Given the description of an element on the screen output the (x, y) to click on. 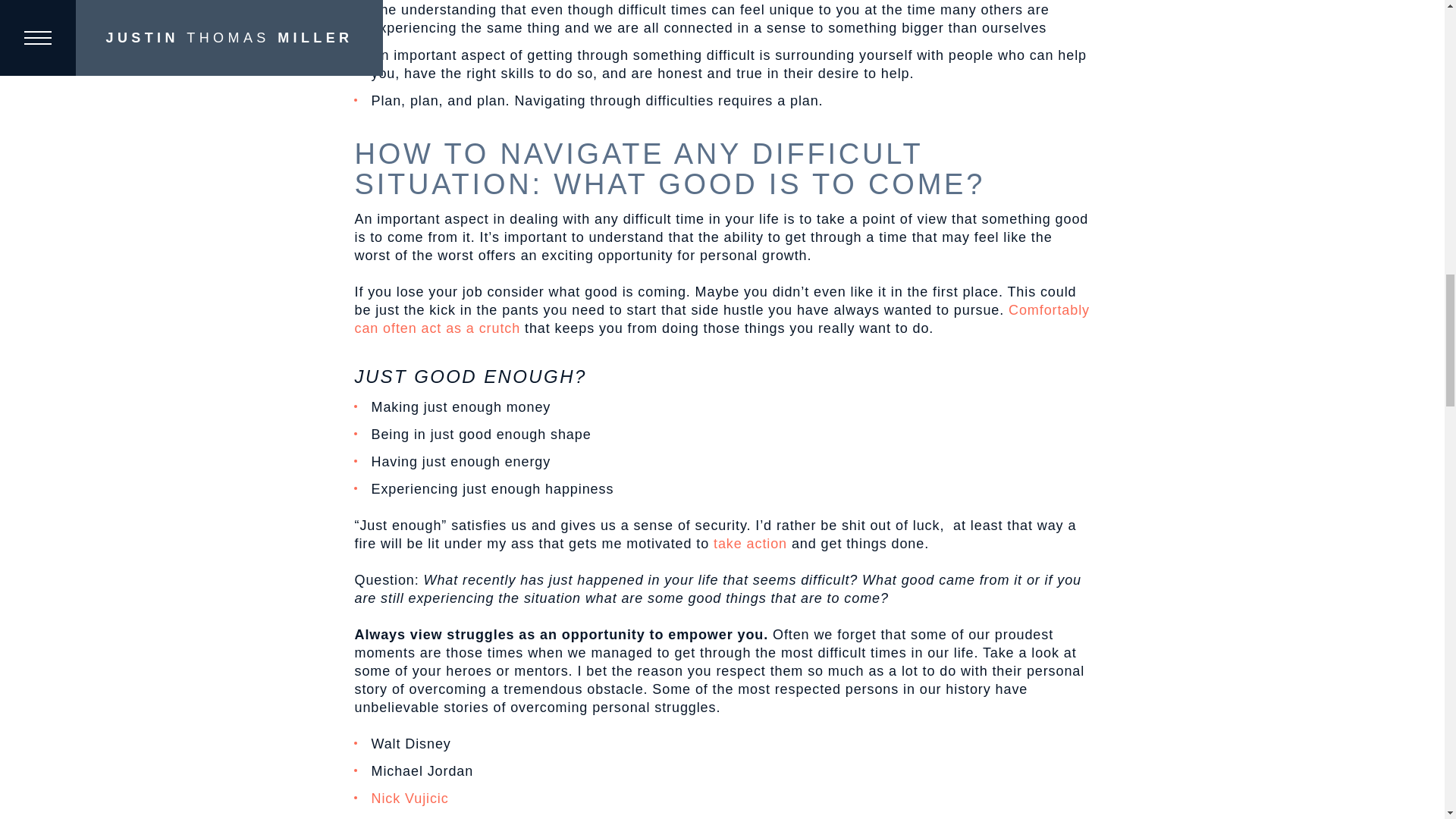
Educate-Take Action-Reflect: Rinse and repeat. (750, 543)
Nick Vujicic (409, 798)
take action (750, 543)
Comfortably can often act as a crutch (721, 318)
